Given the description of an element on the screen output the (x, y) to click on. 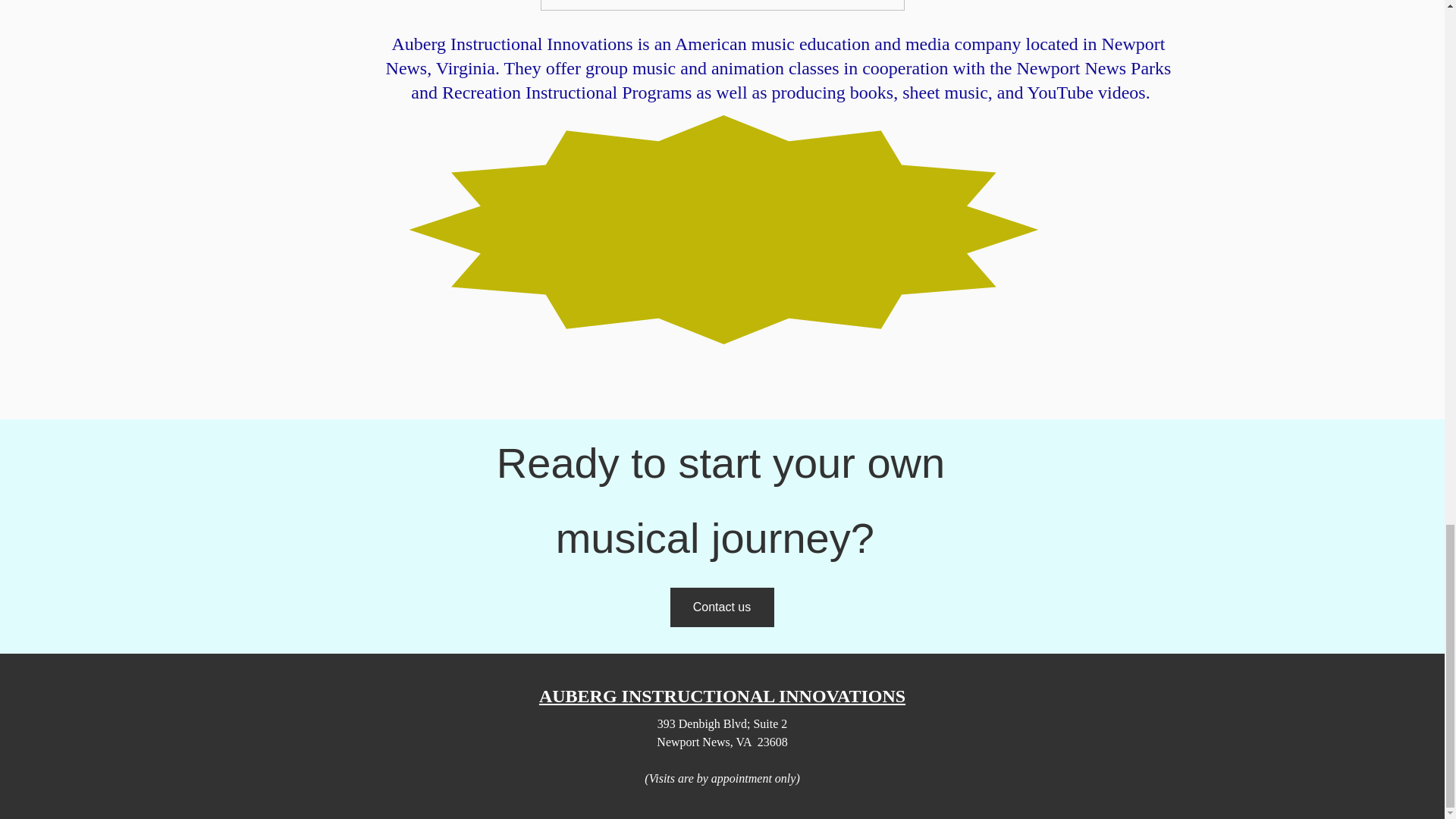
Contact us (721, 607)
